Given the description of an element on the screen output the (x, y) to click on. 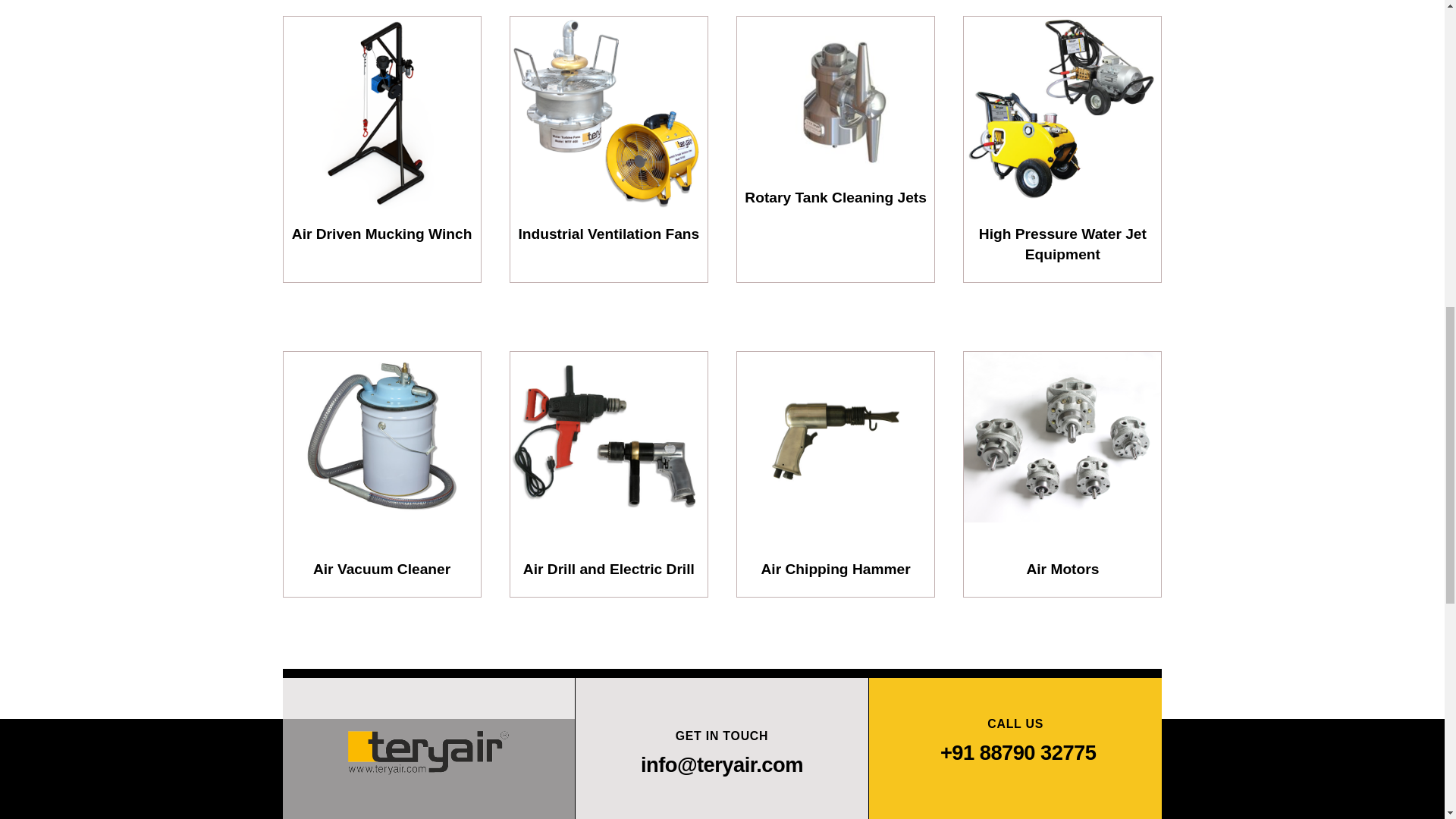
Air Vacuum Cleaner (381, 449)
Industrial Ventilation Fans (609, 113)
Air Driven Mucking Winch (381, 113)
Rotary Tank Cleaning Jets (835, 95)
Air Drill and Electric Drill (609, 449)
High Pressure Water Jet Equipment (1061, 113)
Air Chipping Hammer (835, 449)
